Given the description of an element on the screen output the (x, y) to click on. 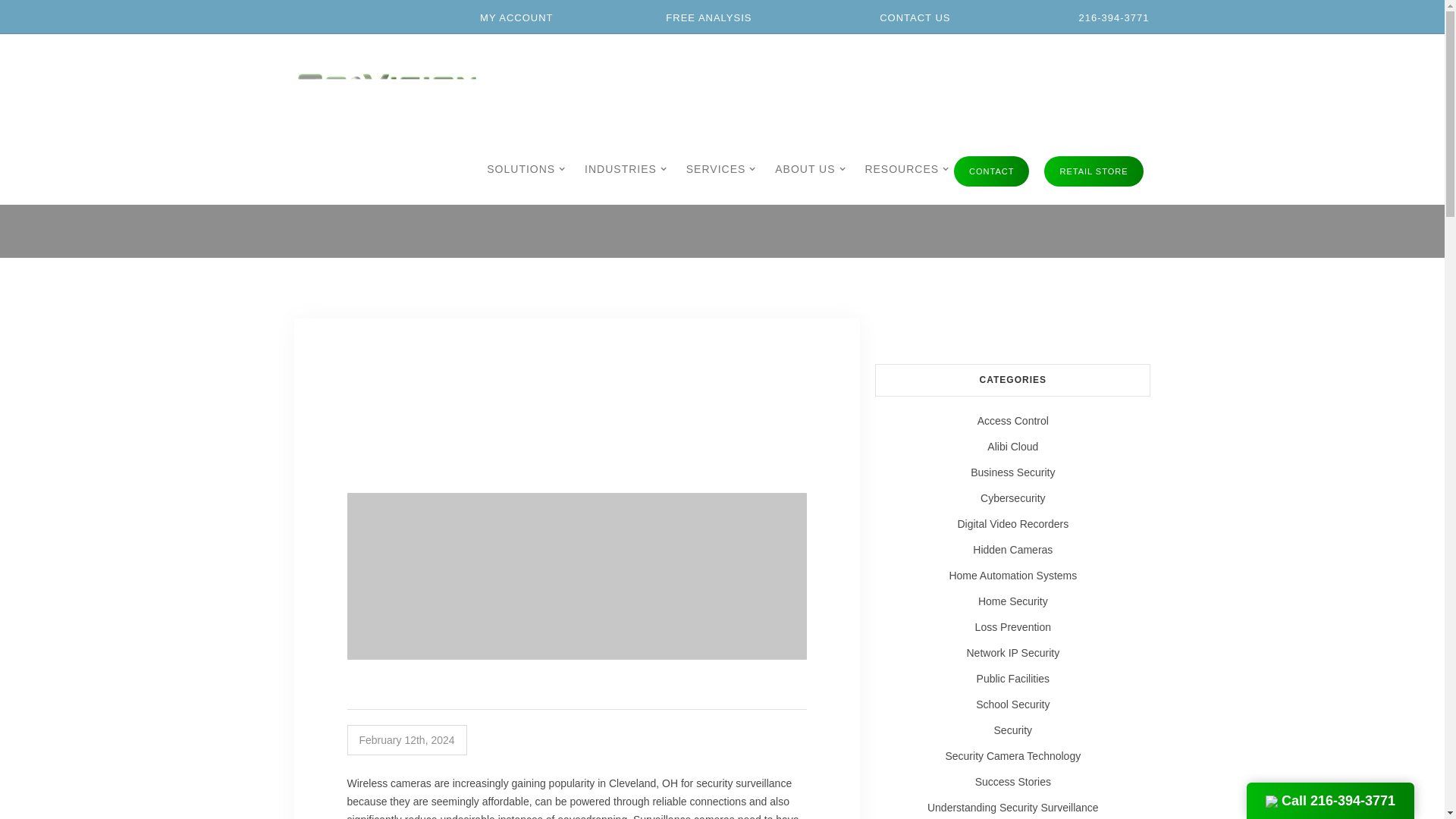
View all posts filed under Home Automation Systems (1012, 575)
View all posts filed under Security (1012, 730)
View all posts filed under Success Stories (1012, 782)
MY ACCOUNT (507, 17)
FREE ANALYSIS (698, 17)
CONTACT US (906, 17)
View all posts filed under Alibi Cloud (1012, 446)
View all posts filed under Cybersecurity (1012, 497)
View all posts filed under Loss Prevention (1012, 627)
View all posts filed under School Security (1012, 704)
View all posts filed under Network IP Security (1012, 652)
View all posts filed under Digital Video Recorders (1012, 524)
View all posts filed under Security Camera Technology (1012, 755)
View all posts filed under Business Security (1012, 472)
